Given the description of an element on the screen output the (x, y) to click on. 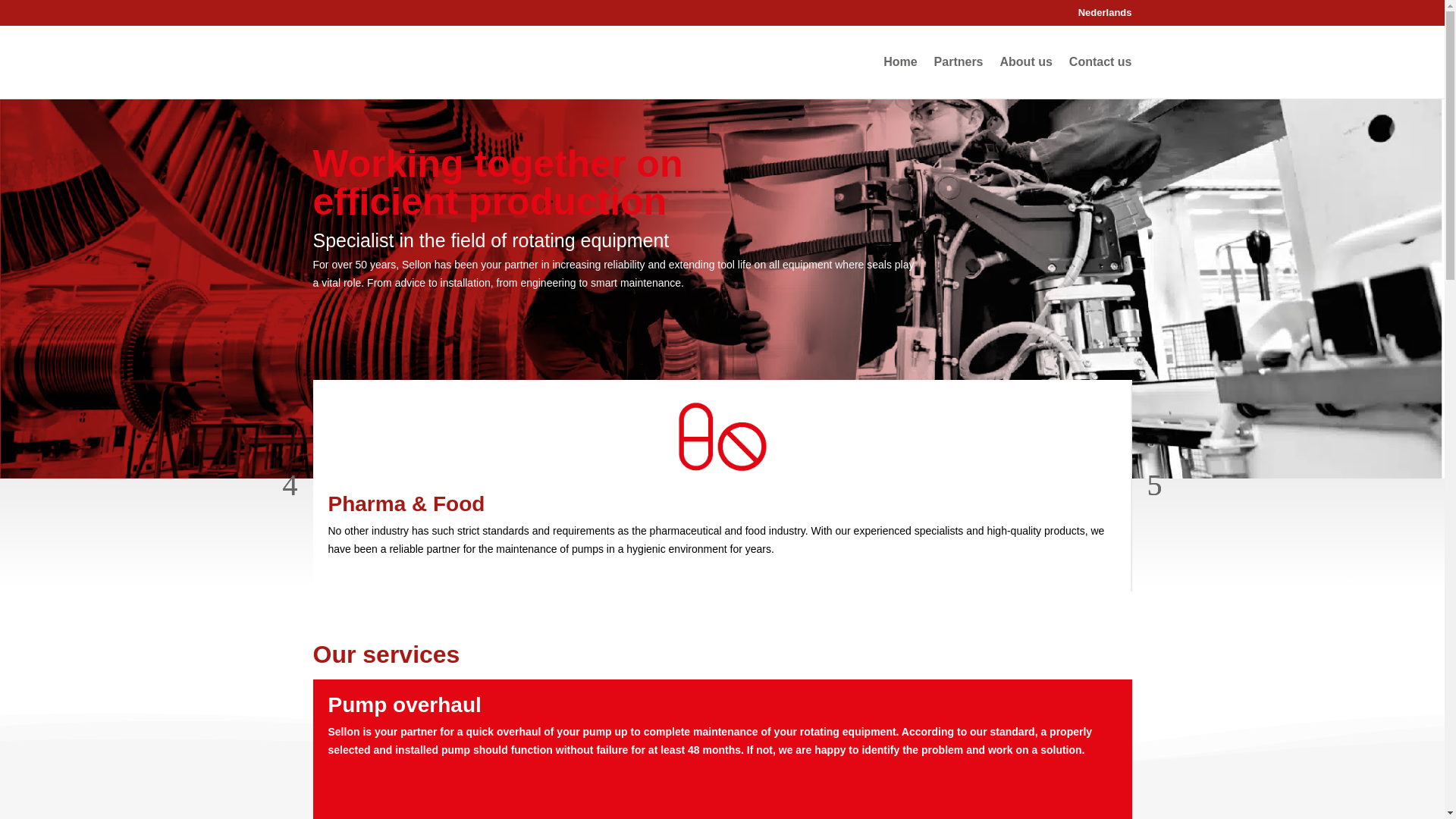
  Nederlands (1094, 12)
Contact us (1100, 61)
About us (1024, 61)
